Given the description of an element on the screen output the (x, y) to click on. 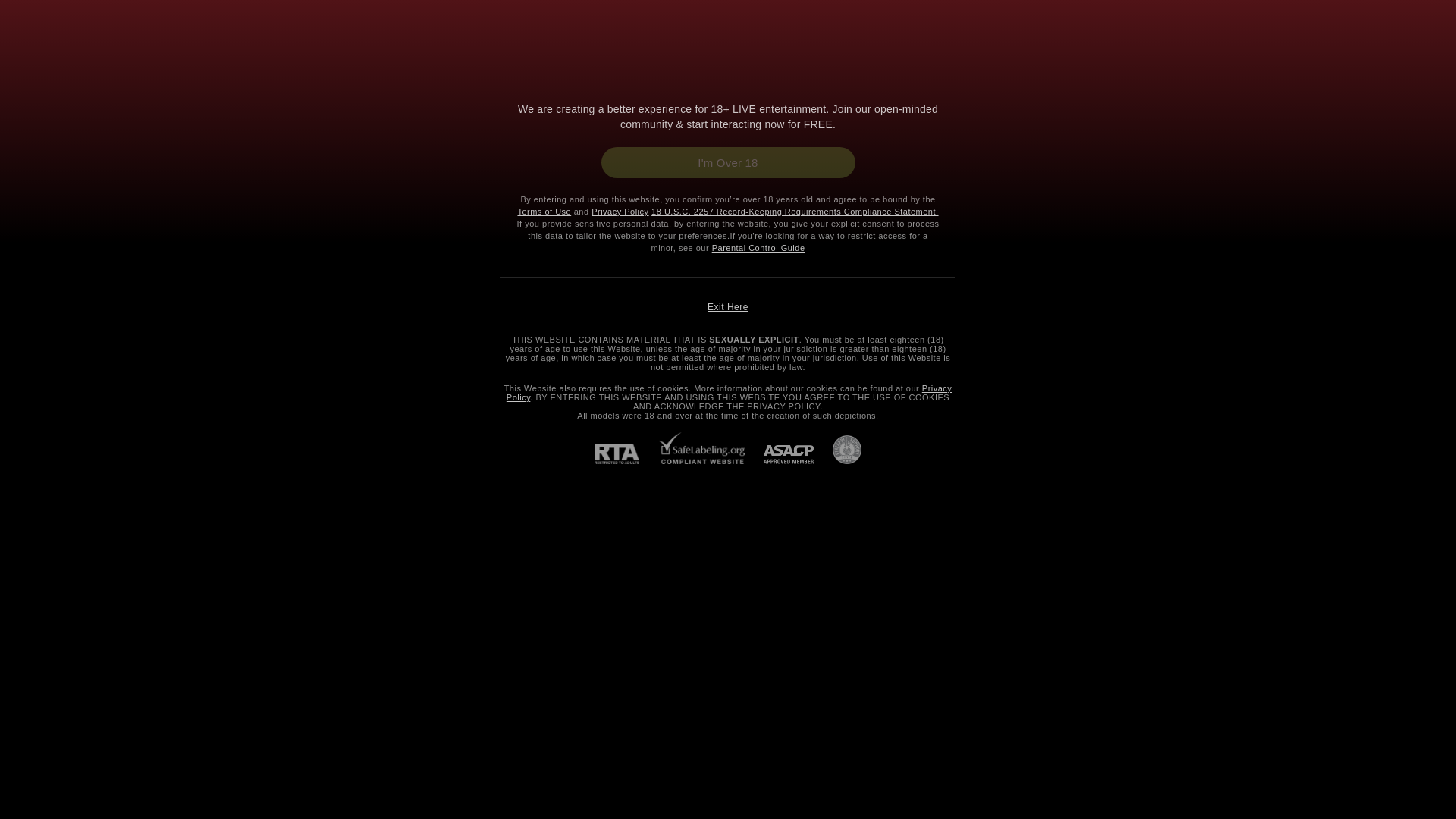
Exit Here (727, 307)
Terms of Use (543, 211)
I'm Over 18 (726, 162)
Parental Control Guide (758, 247)
Online (729, 393)
